Given the description of an element on the screen output the (x, y) to click on. 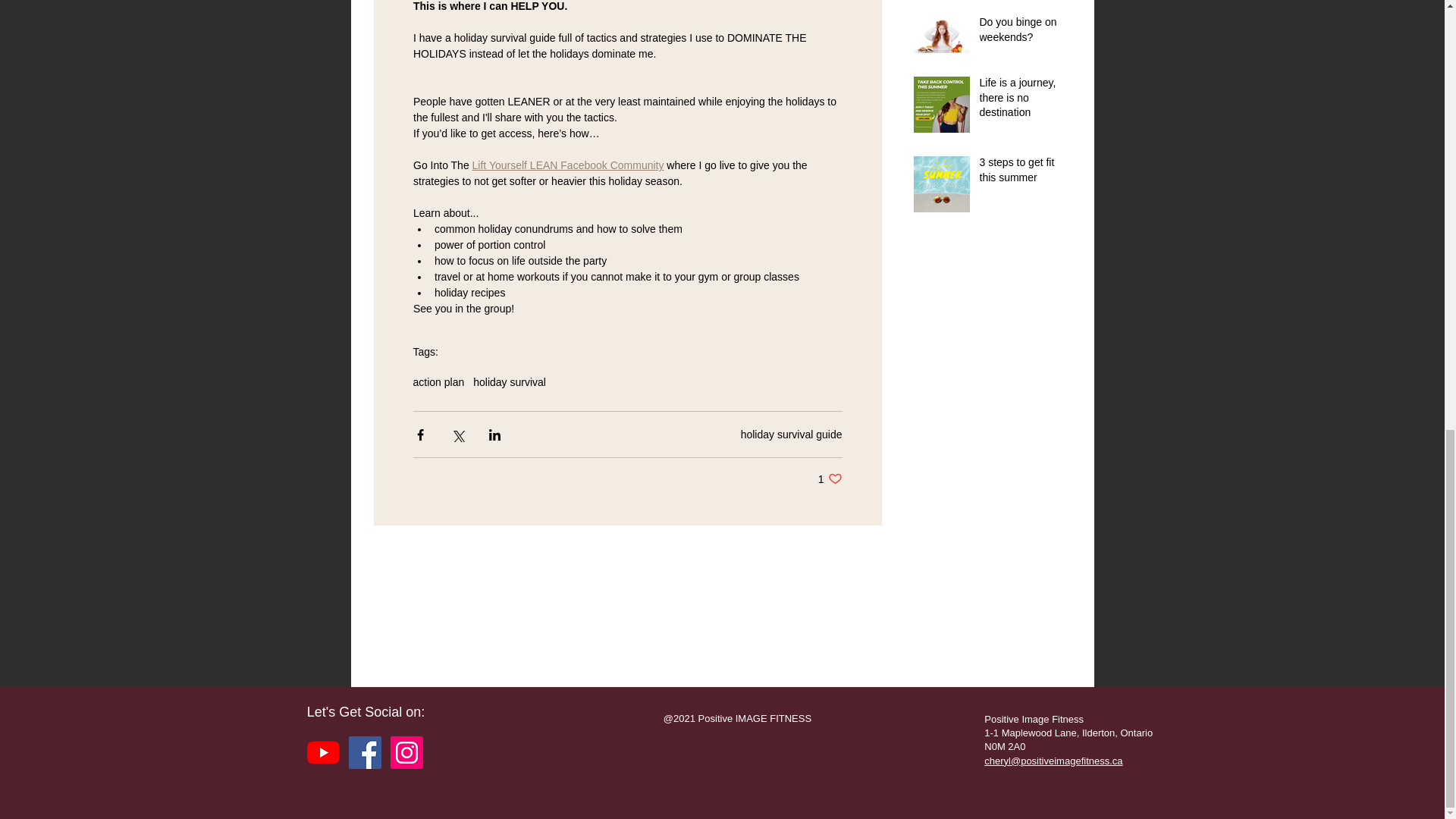
Do you binge on weekends? (1020, 32)
Lift Yourself LEAN Facebook Community (830, 478)
holiday survival guide (567, 164)
3 steps to get fit this summer (792, 433)
Life is a journey, there is no destination (1020, 172)
action plan (1020, 101)
holiday survival (438, 381)
